Given the description of an element on the screen output the (x, y) to click on. 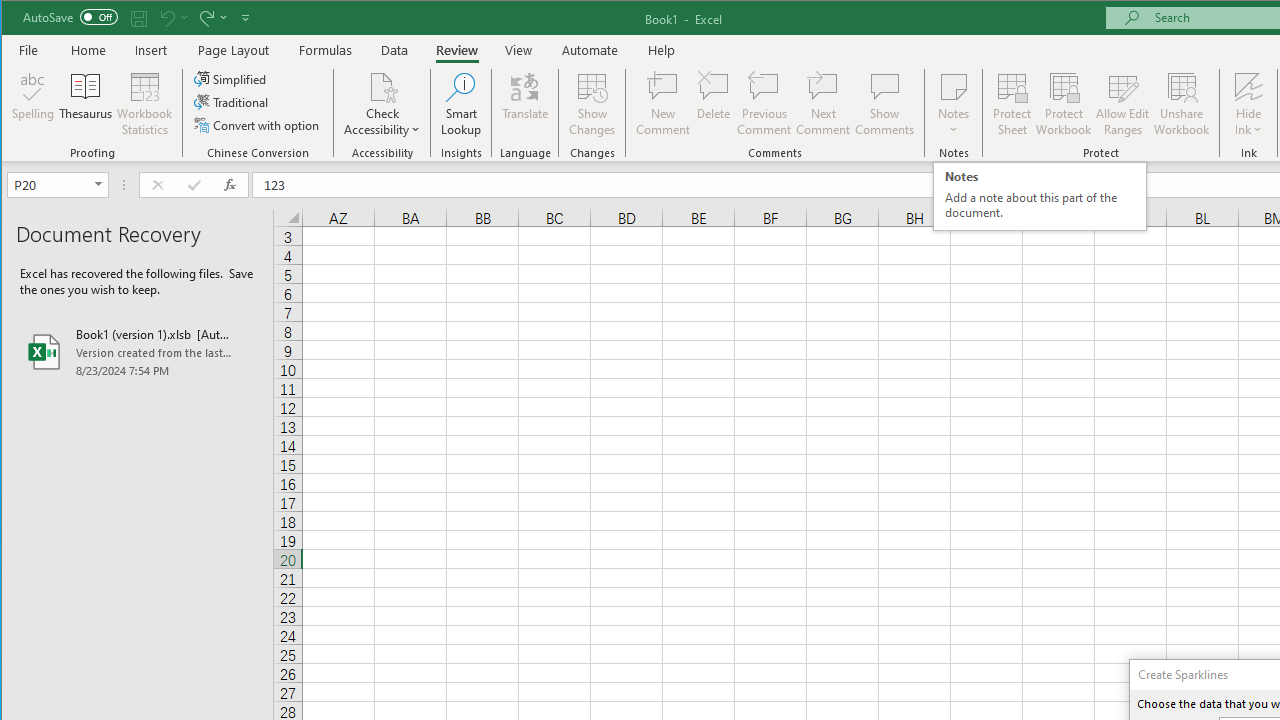
Save (139, 17)
Name Box (49, 184)
Undo (172, 17)
Smart Lookup (461, 104)
Formulas (326, 50)
Protect Sheet... (1012, 104)
New Comment (1039, 196)
Show Comments (662, 104)
Data (884, 104)
Notes (395, 50)
Simplified (954, 104)
Allow Edit Ranges (231, 78)
Automate (1123, 104)
Hide Ink (589, 50)
